Given the description of an element on the screen output the (x, y) to click on. 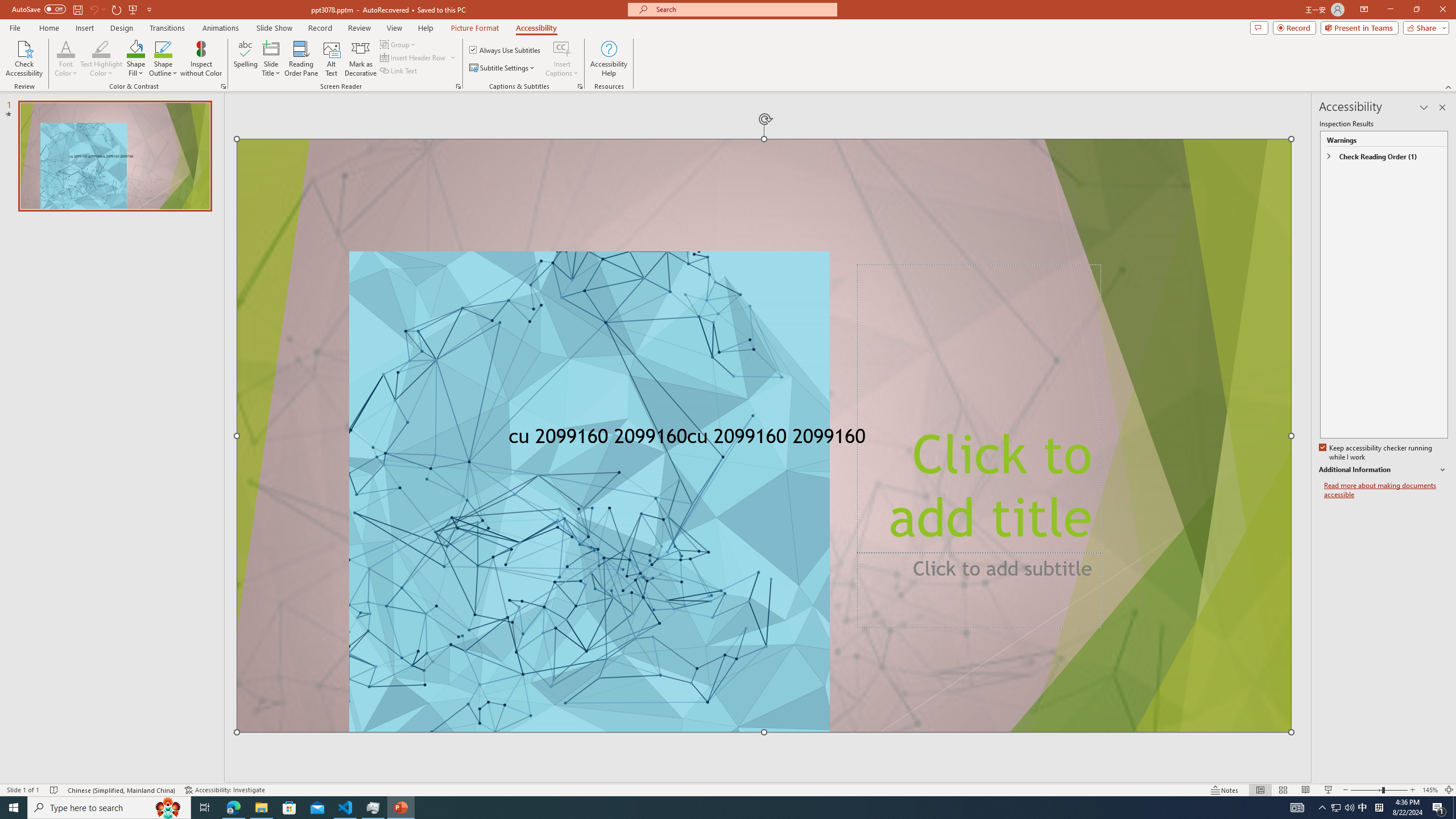
Color & Contrast (223, 85)
Slide Title (271, 48)
Insert Header Row (413, 56)
Zoom 145% (1430, 790)
Additional Information (1383, 469)
